Given the description of an element on the screen output the (x, y) to click on. 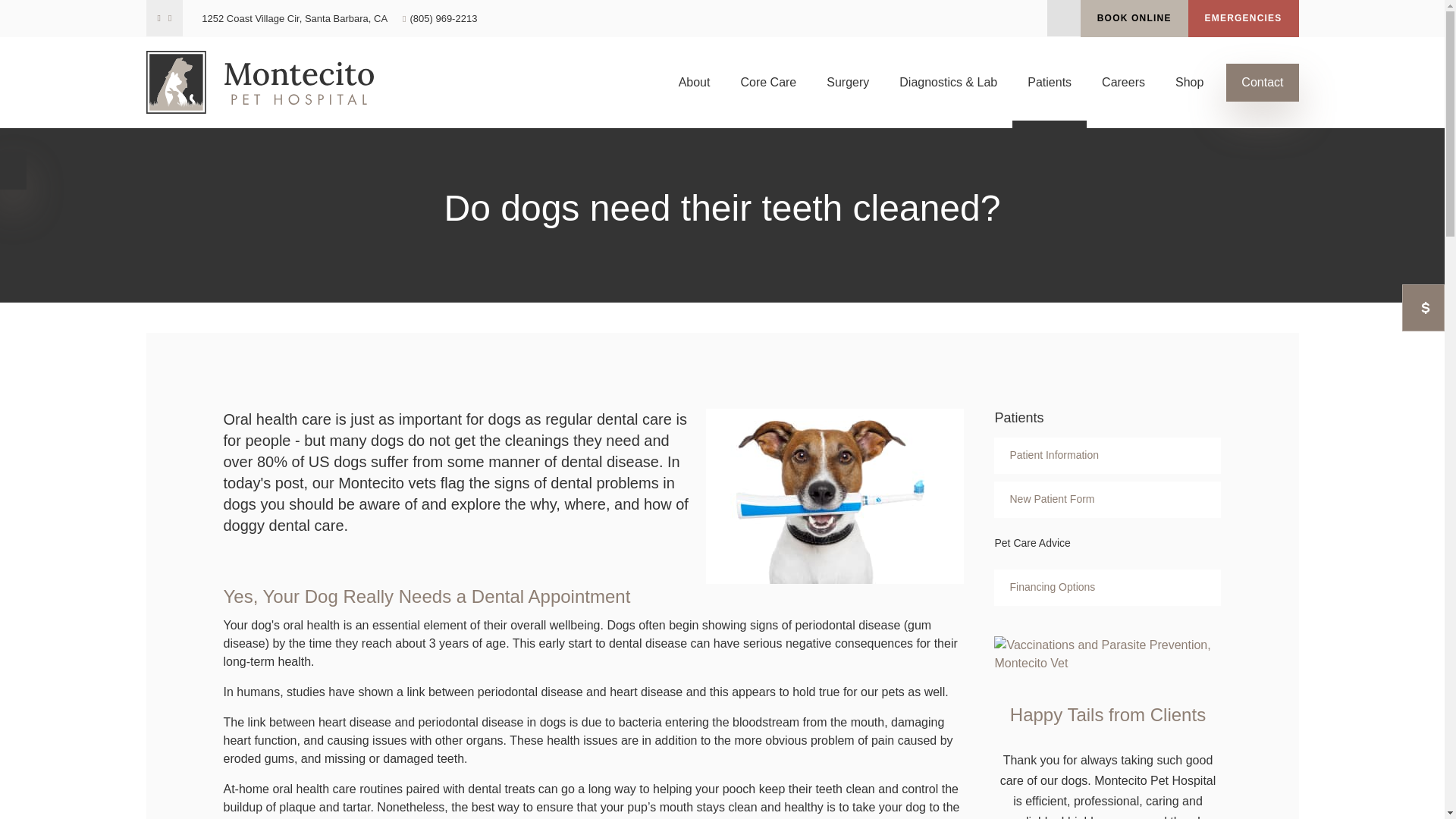
BOOK ONLINE (1134, 18)
1252 Coast Village Cir Santa Barbara CA (294, 18)
EMERGENCIES (1243, 18)
